Given the description of an element on the screen output the (x, y) to click on. 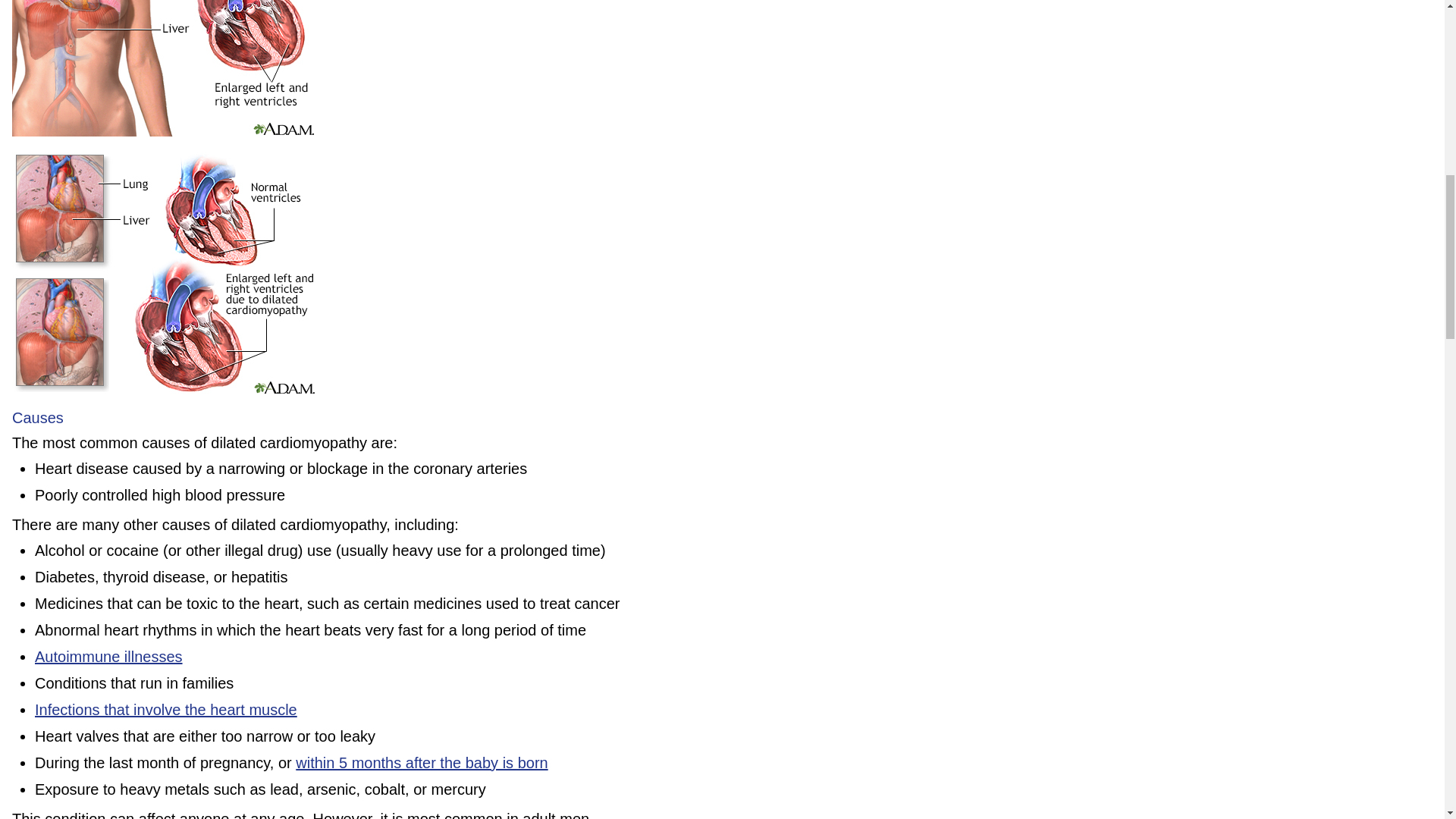
Autoimmune illnesses (108, 656)
within 5 months after the baby is born (421, 762)
Infections that involve the heart muscle (165, 709)
